Given the description of an element on the screen output the (x, y) to click on. 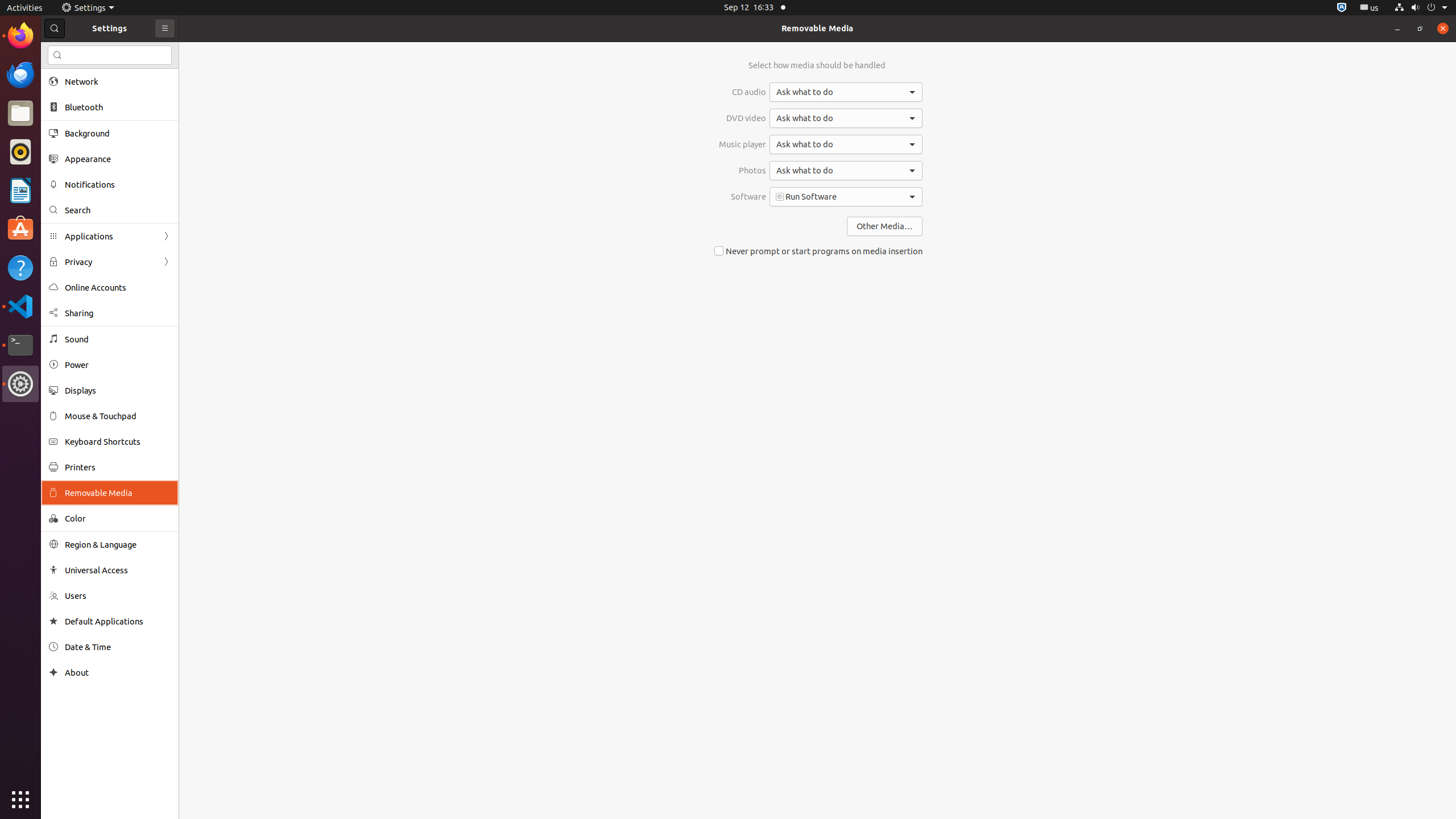
Sharing Element type: label (117, 312)
Primary Menu Element type: toggle-button (164, 28)
Minimize Element type: push-button (1397, 27)
Users Element type: label (117, 595)
